Given the description of an element on the screen output the (x, y) to click on. 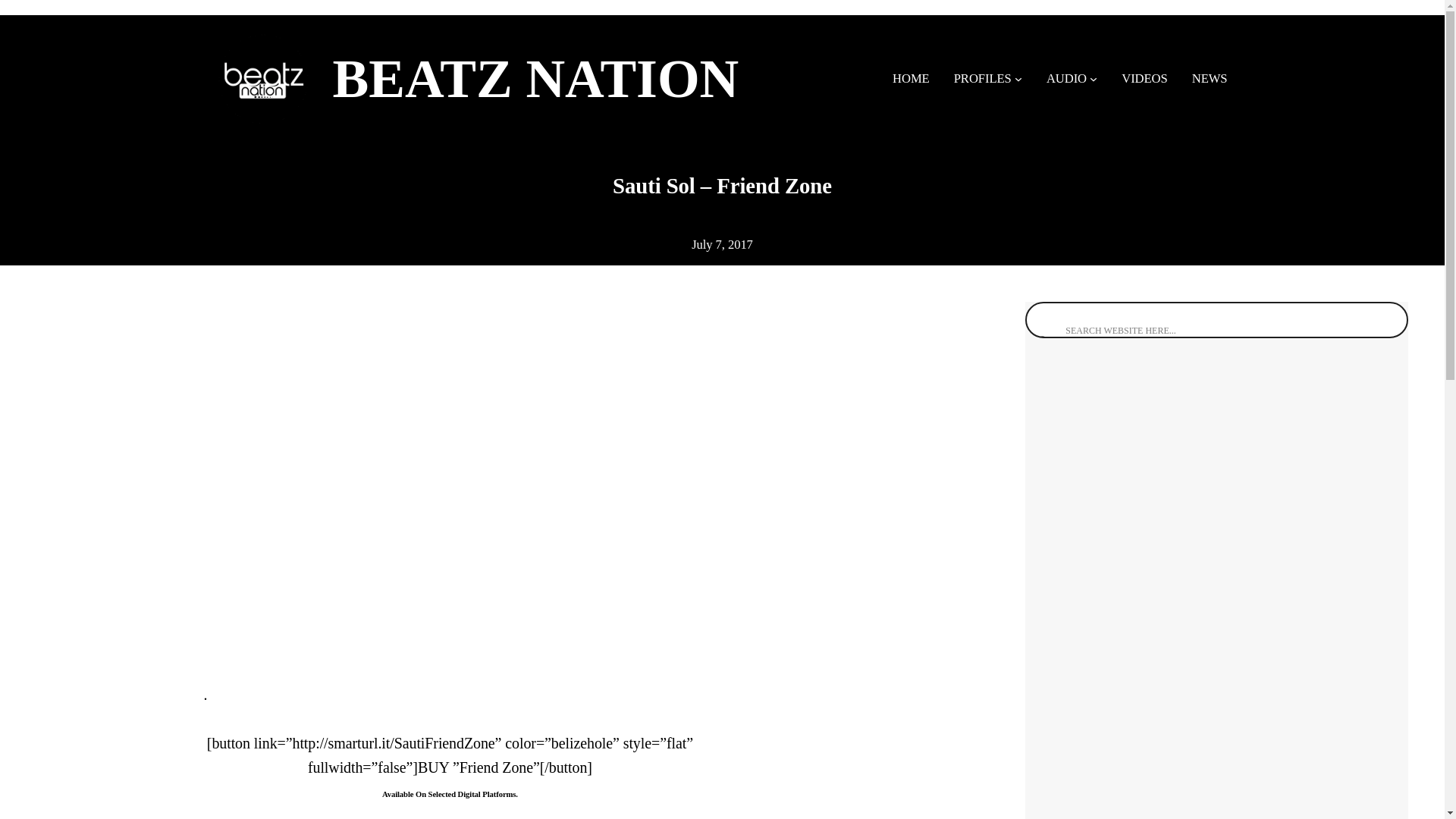
HOME (911, 77)
VIDEOS (1144, 77)
AUDIO (1066, 77)
PROFILES (982, 77)
NEWS (1209, 77)
BEATZ NATION (534, 78)
